Given the description of an element on the screen output the (x, y) to click on. 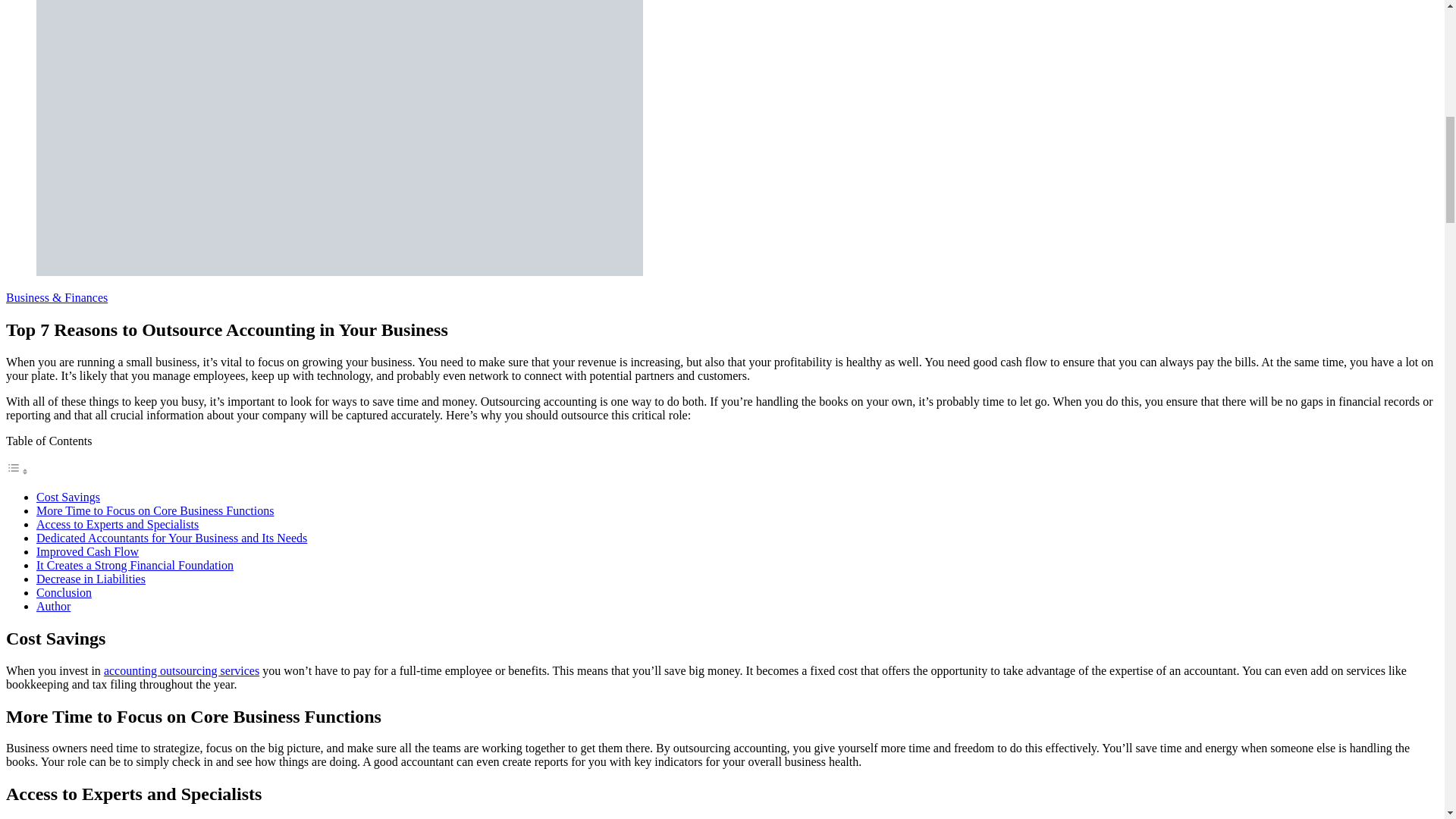
It Creates a Strong Financial Foundation (134, 564)
Improved Cash Flow (87, 551)
Cost Savings (68, 496)
accounting outsourcing services (181, 670)
Cost Savings (68, 496)
Conclusion (63, 592)
Author (52, 605)
Decrease in Liabilities (90, 578)
Improved Cash Flow (87, 551)
Author (52, 605)
